Given the description of an element on the screen output the (x, y) to click on. 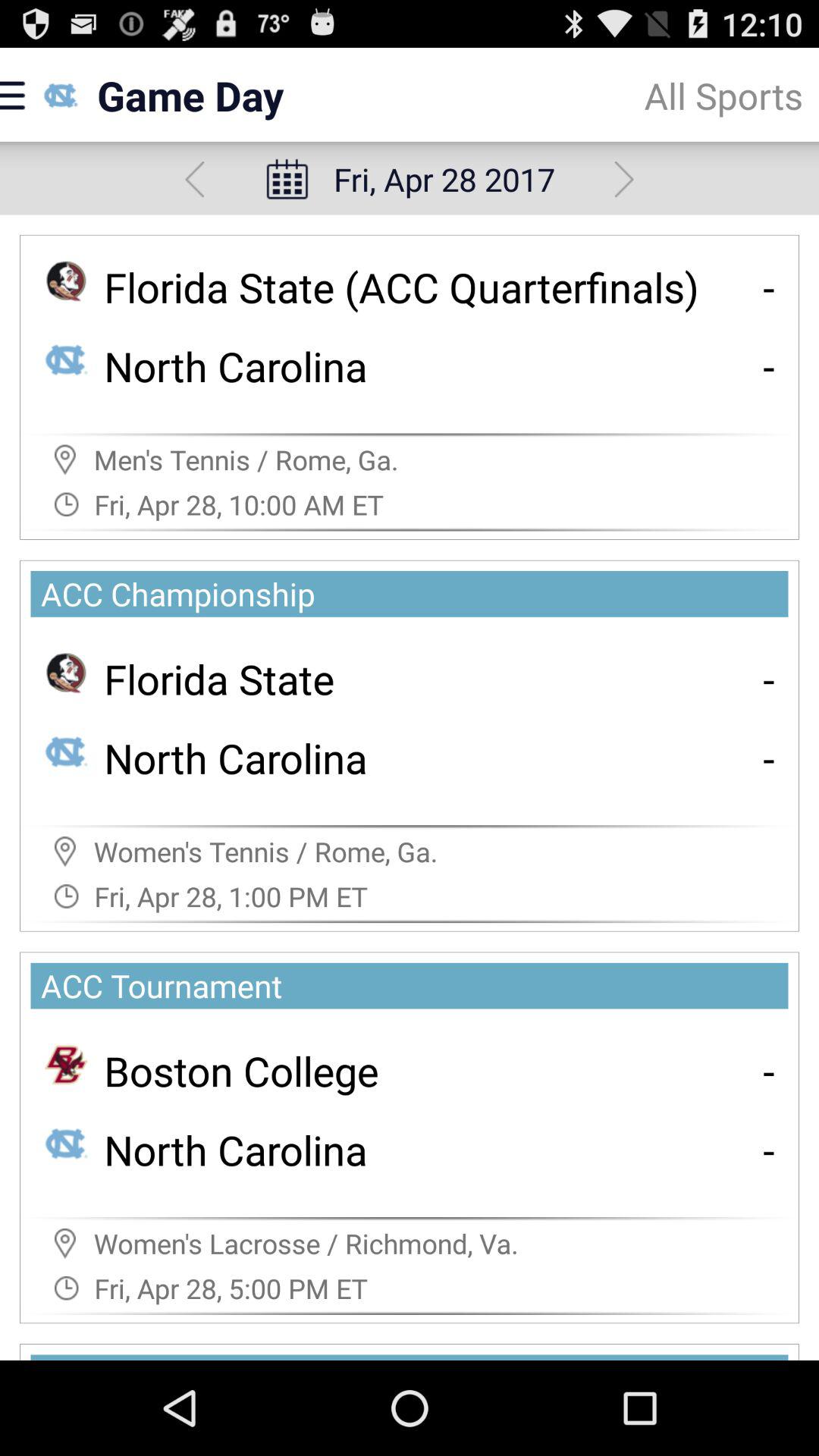
launch the item to the right of boston college app (768, 1070)
